Given the description of an element on the screen output the (x, y) to click on. 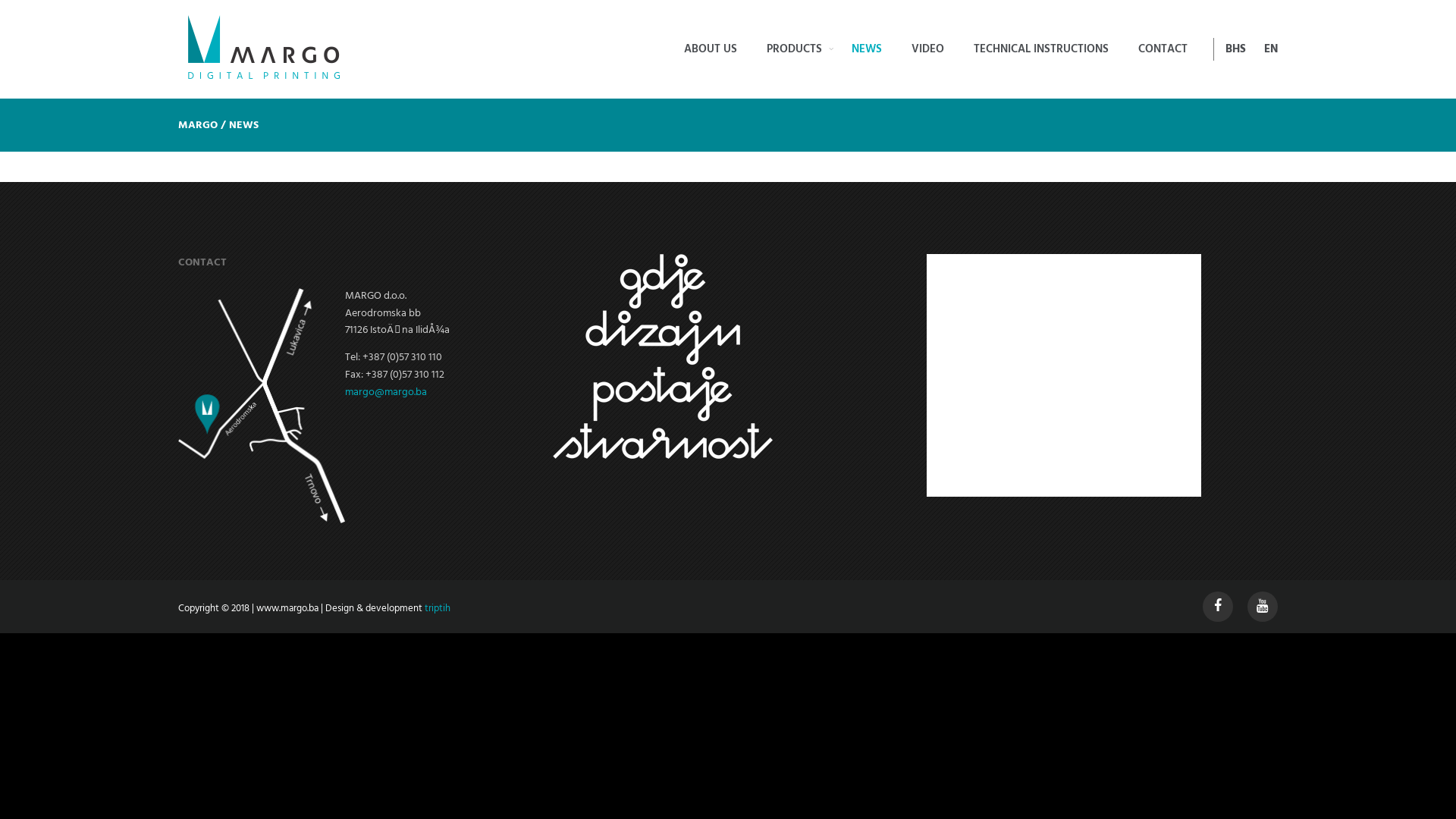
margo@margo.ba Element type: text (385, 392)
NEWS Element type: text (866, 49)
CONTACT Element type: text (1162, 49)
PRODUCTS Element type: text (794, 49)
ABOUT US Element type: text (710, 49)
TECHNICAL INSTRUCTIONS Element type: text (1041, 49)
EN Element type: text (1268, 48)
VIDEO Element type: text (927, 49)
triptih Element type: text (437, 608)
BHS Element type: text (1235, 48)
